Given the description of an element on the screen output the (x, y) to click on. 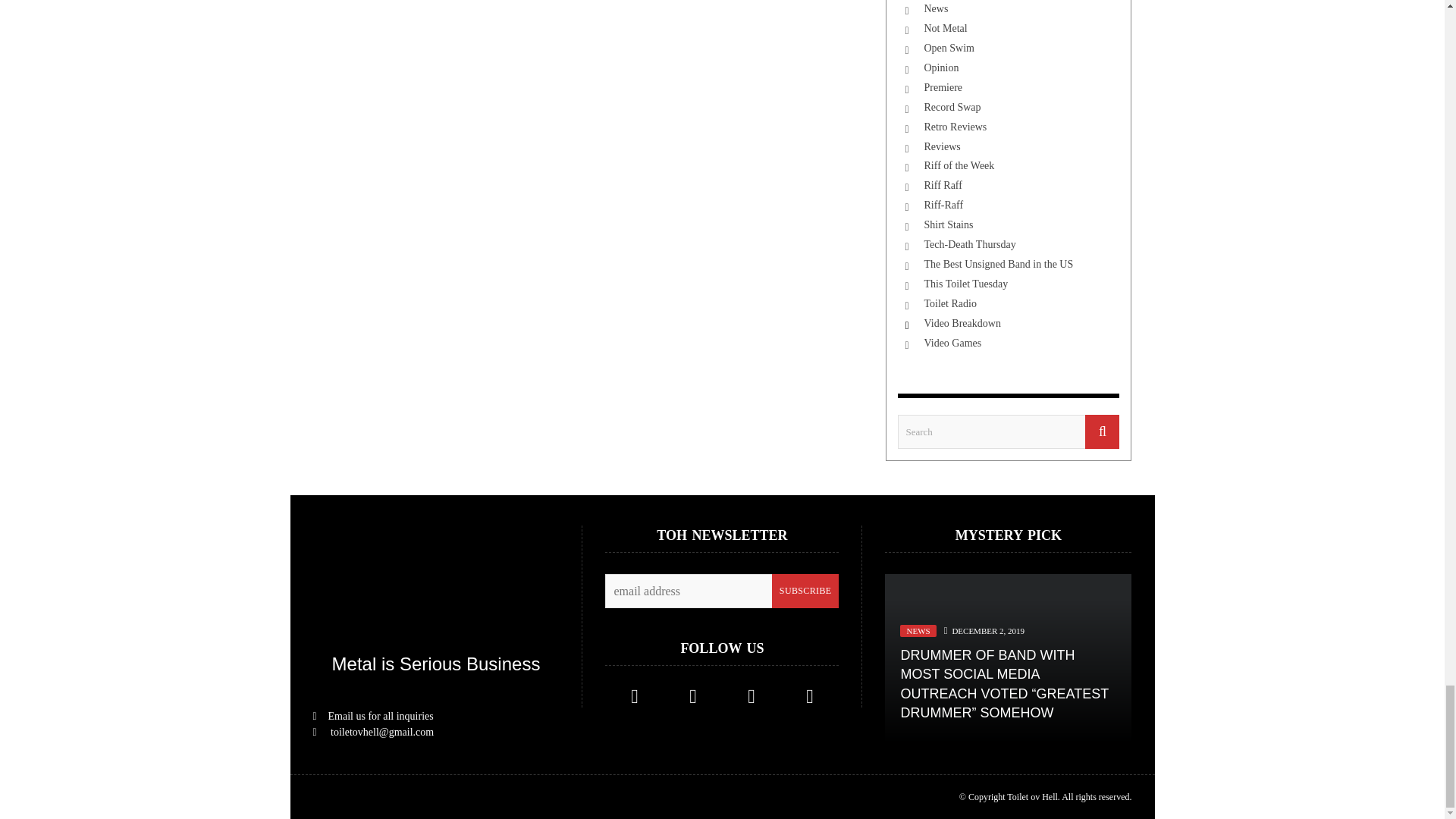
Search (1008, 431)
Subscribe (805, 591)
